Given the description of an element on the screen output the (x, y) to click on. 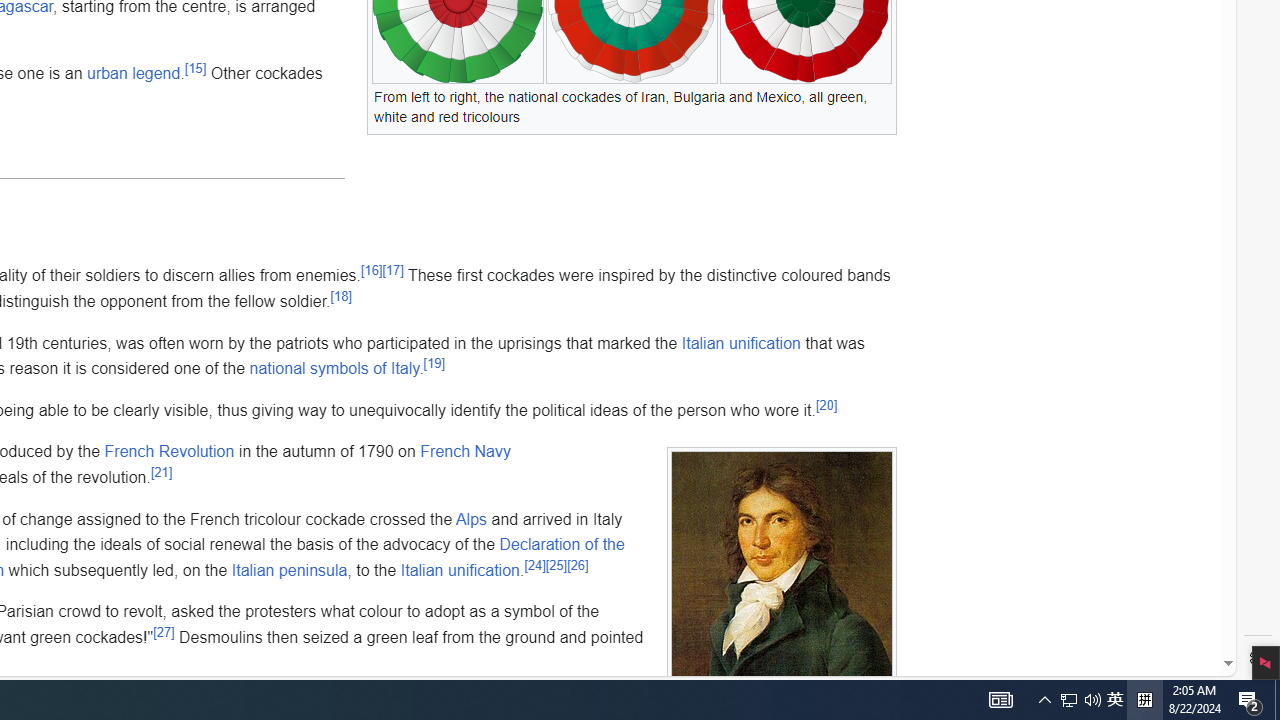
[20] (826, 404)
French Revolution (169, 451)
[15] (195, 69)
urban legend (132, 73)
Alps (470, 518)
[16] (371, 270)
[24] (534, 565)
[17] (392, 270)
[26] (577, 565)
[18] (341, 295)
Italian unification (459, 569)
national symbols of Italy (334, 369)
Italian peninsula (289, 569)
[19] (433, 362)
French Navy (465, 451)
